Given the description of an element on the screen output the (x, y) to click on. 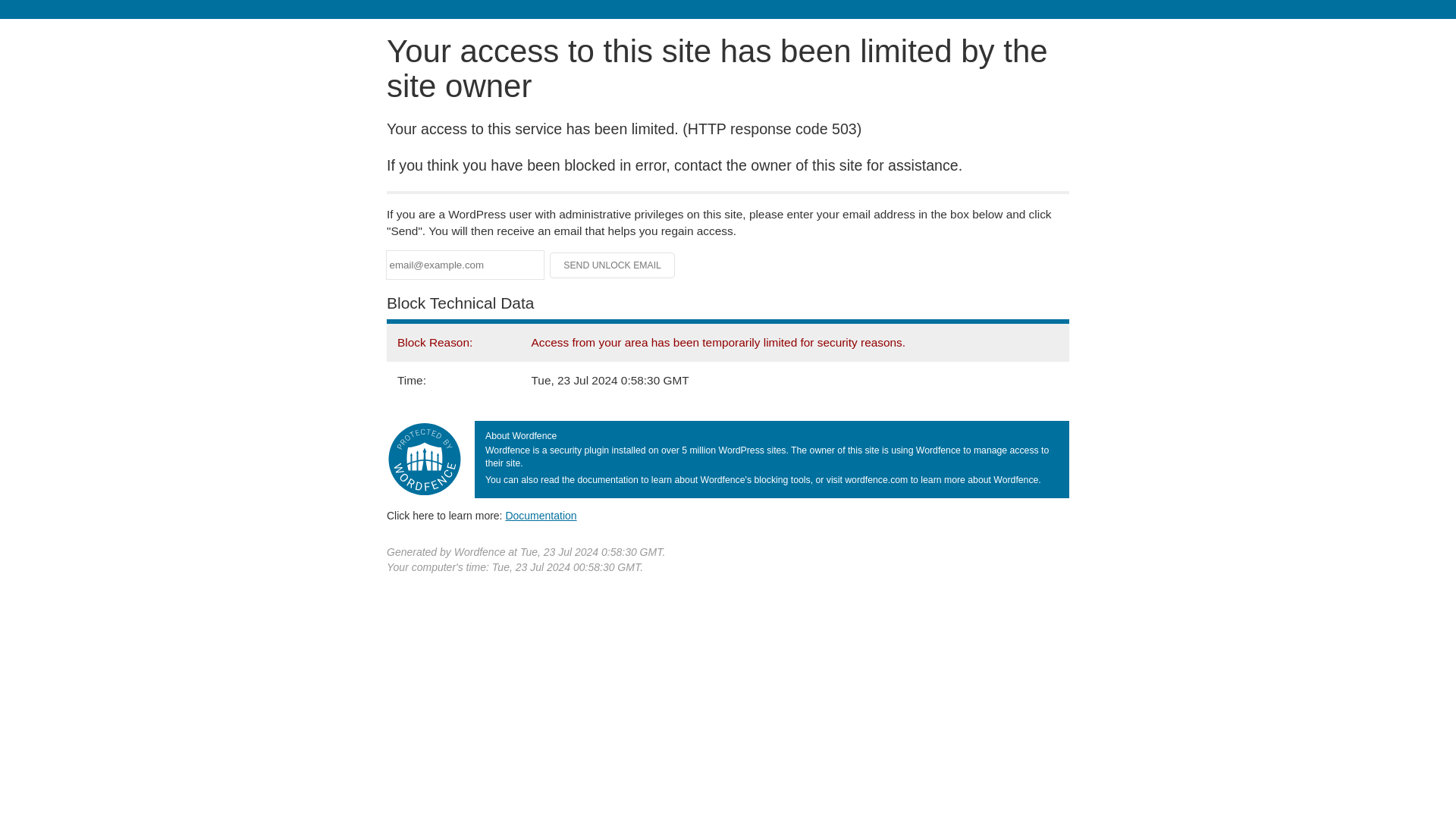
Send Unlock Email (612, 265)
Documentation (540, 515)
Send Unlock Email (612, 265)
